Given the description of an element on the screen output the (x, y) to click on. 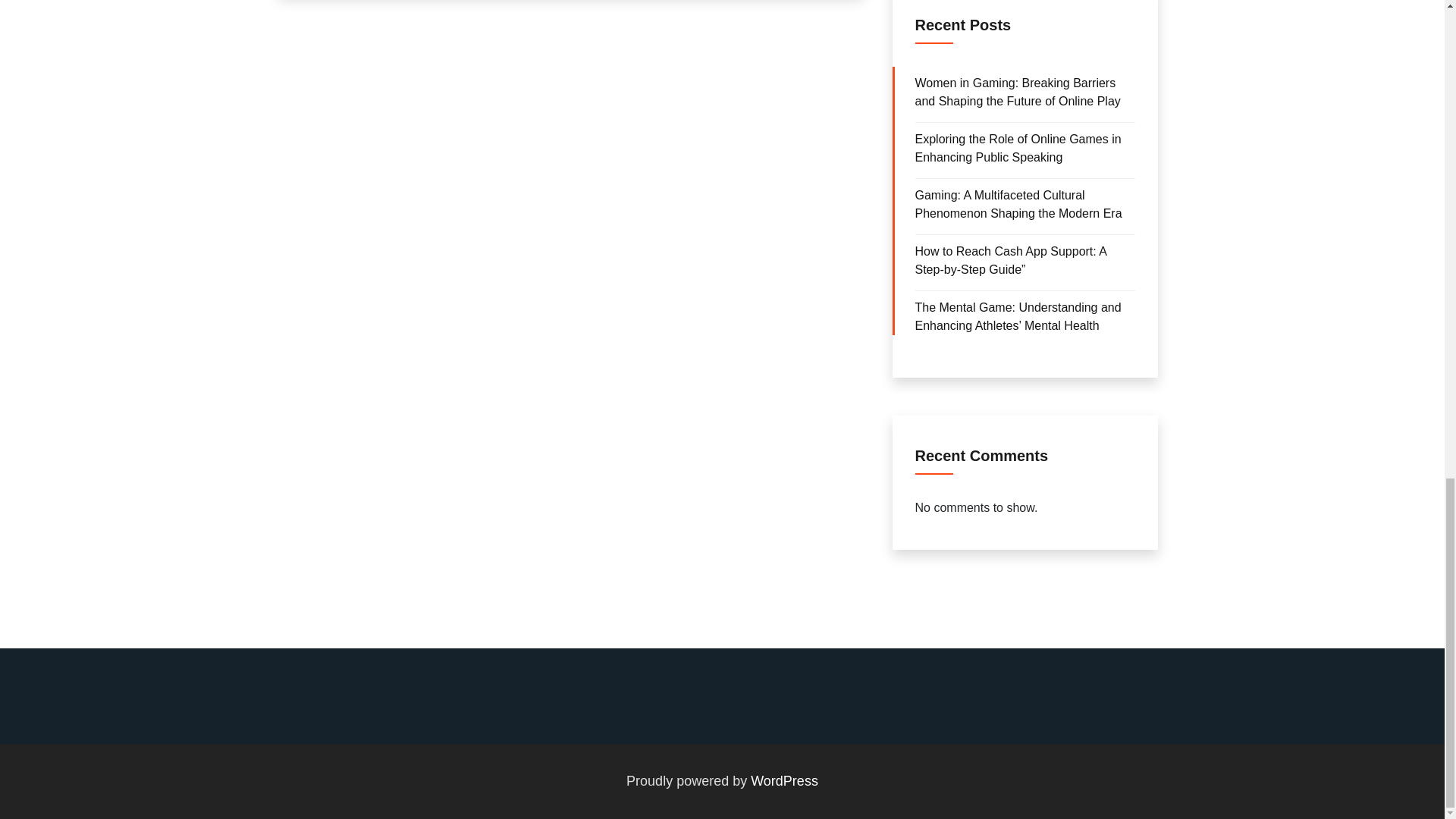
WordPress (784, 780)
